Given the description of an element on the screen output the (x, y) to click on. 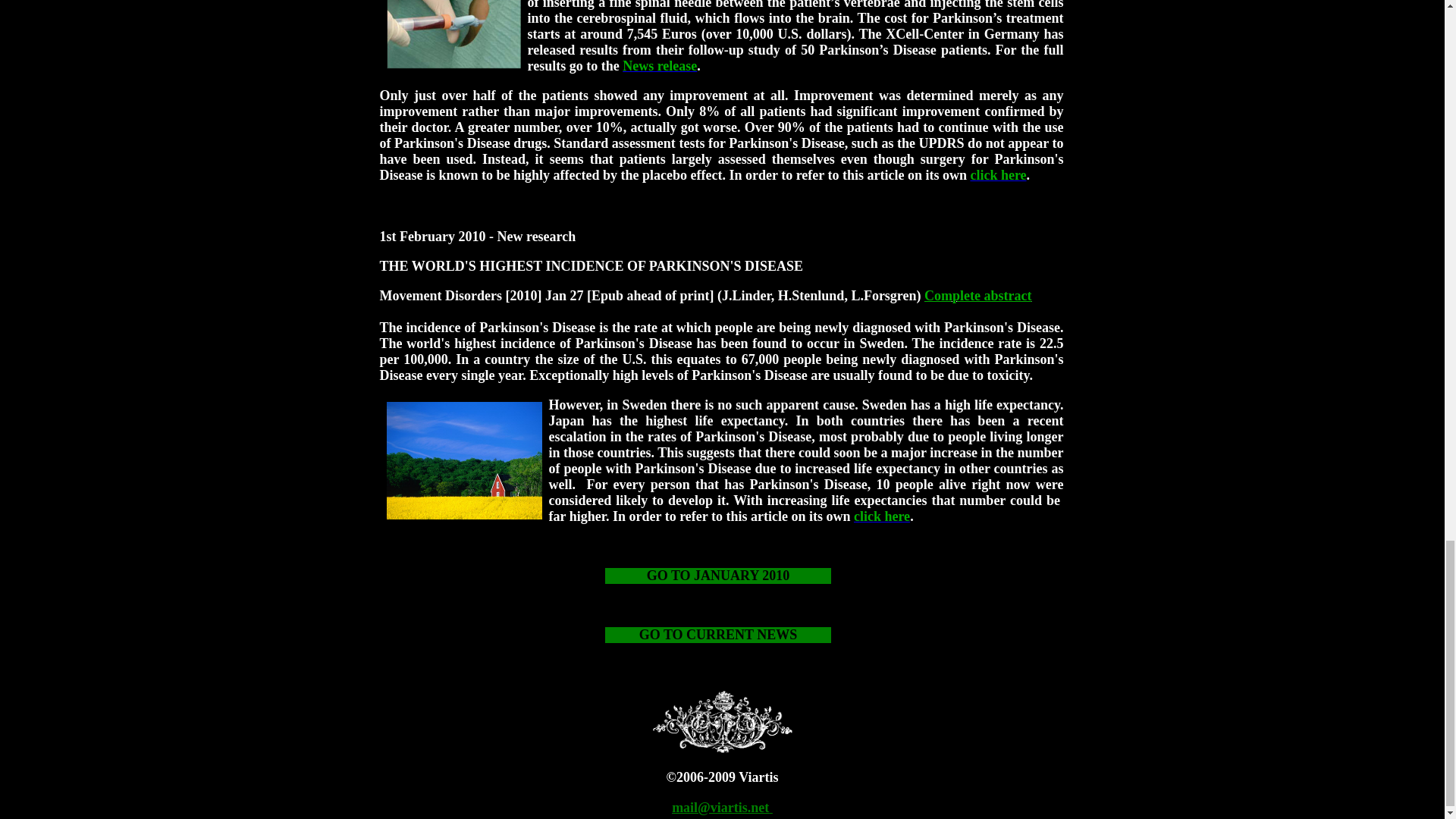
Complete abstract (977, 295)
click here (881, 516)
GO TO JANUARY 2010 (718, 575)
click here (997, 174)
GO TO CURRENT NEWS (718, 634)
News release (660, 65)
